Given the description of an element on the screen output the (x, y) to click on. 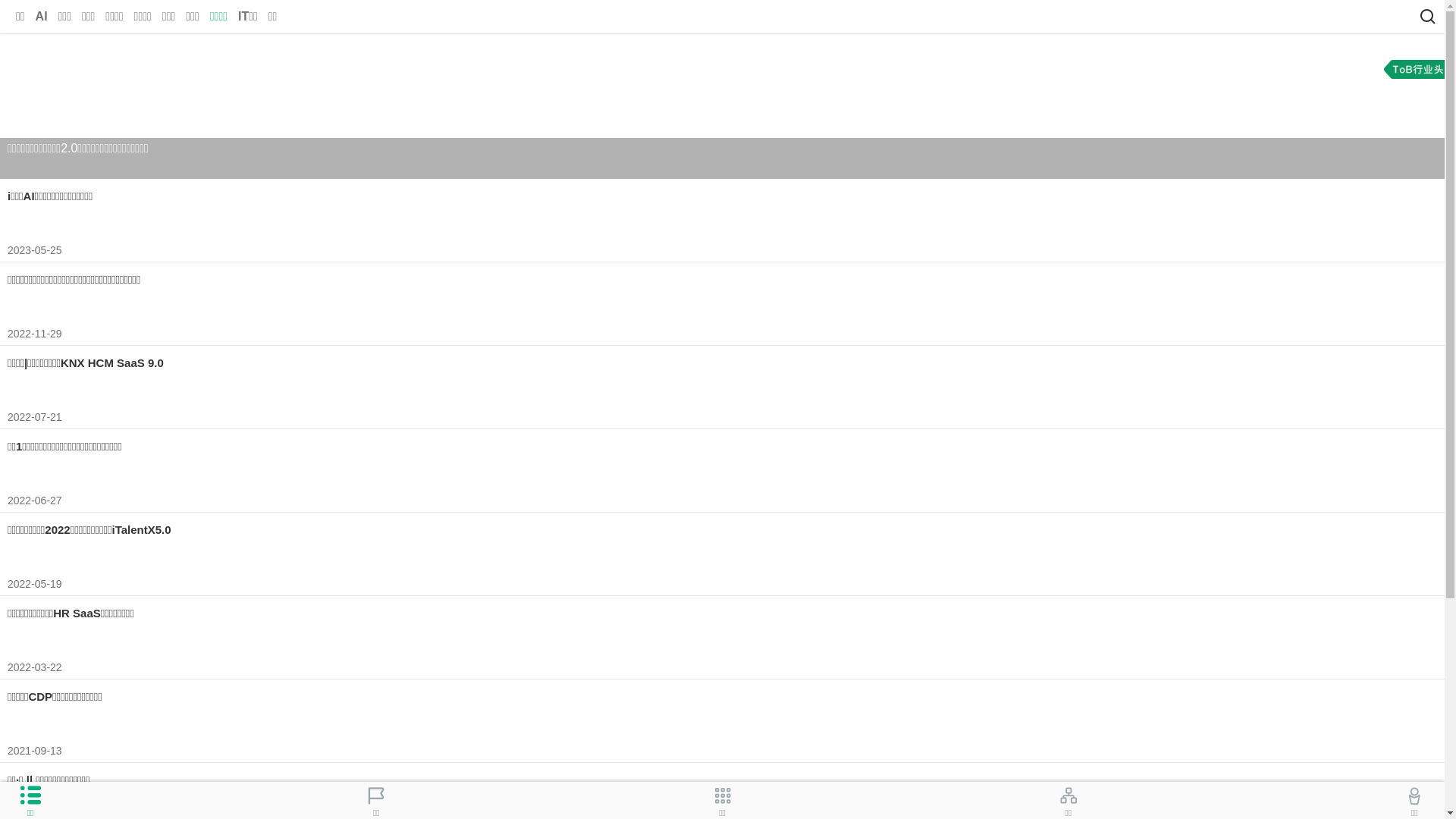
AI Element type: text (41, 15)
